Given the description of an element on the screen output the (x, y) to click on. 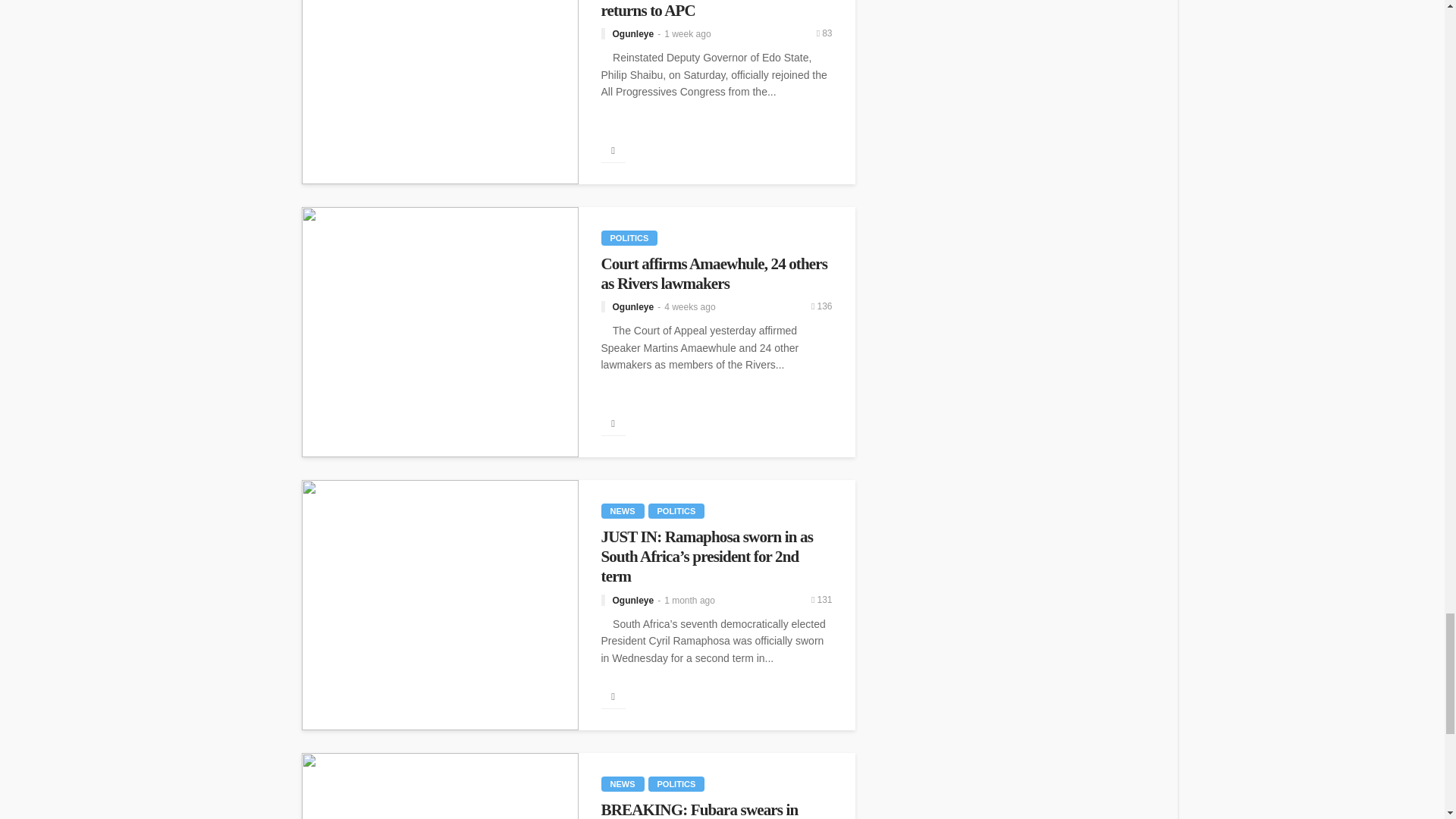
Court affirms Amaewhule, 24 others as Rivers lawmakers (439, 332)
BREAKING: Shaibu dumps PDP, returns to APC (439, 92)
BREAKING: Shaibu dumps PDP, returns to APC (715, 10)
POLITICS (628, 237)
